Given the description of an element on the screen output the (x, y) to click on. 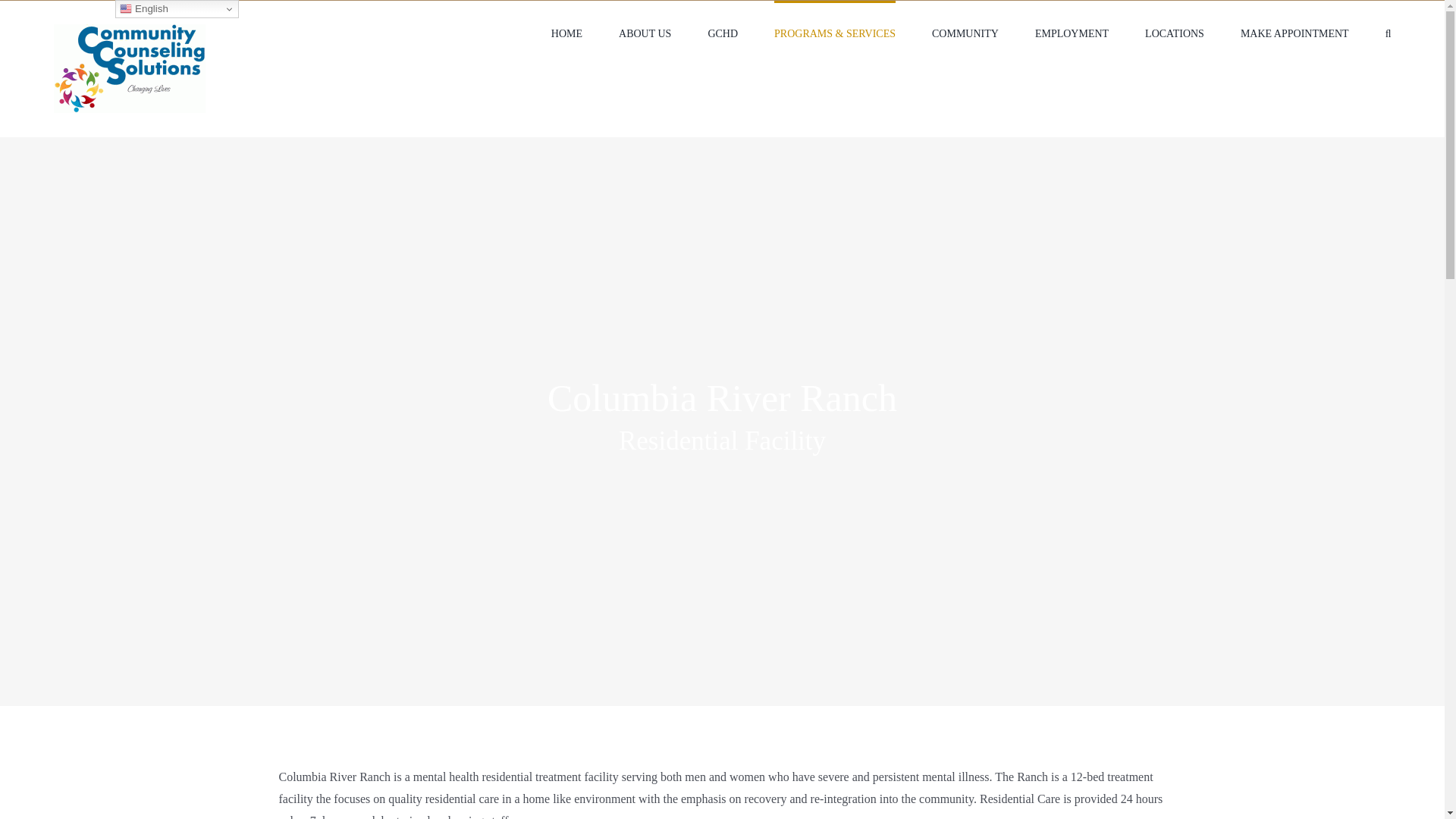
GCHD (722, 32)
HOME (566, 32)
ABOUT US (644, 32)
Grant County Health Department (722, 32)
Search (1388, 32)
